Given the description of an element on the screen output the (x, y) to click on. 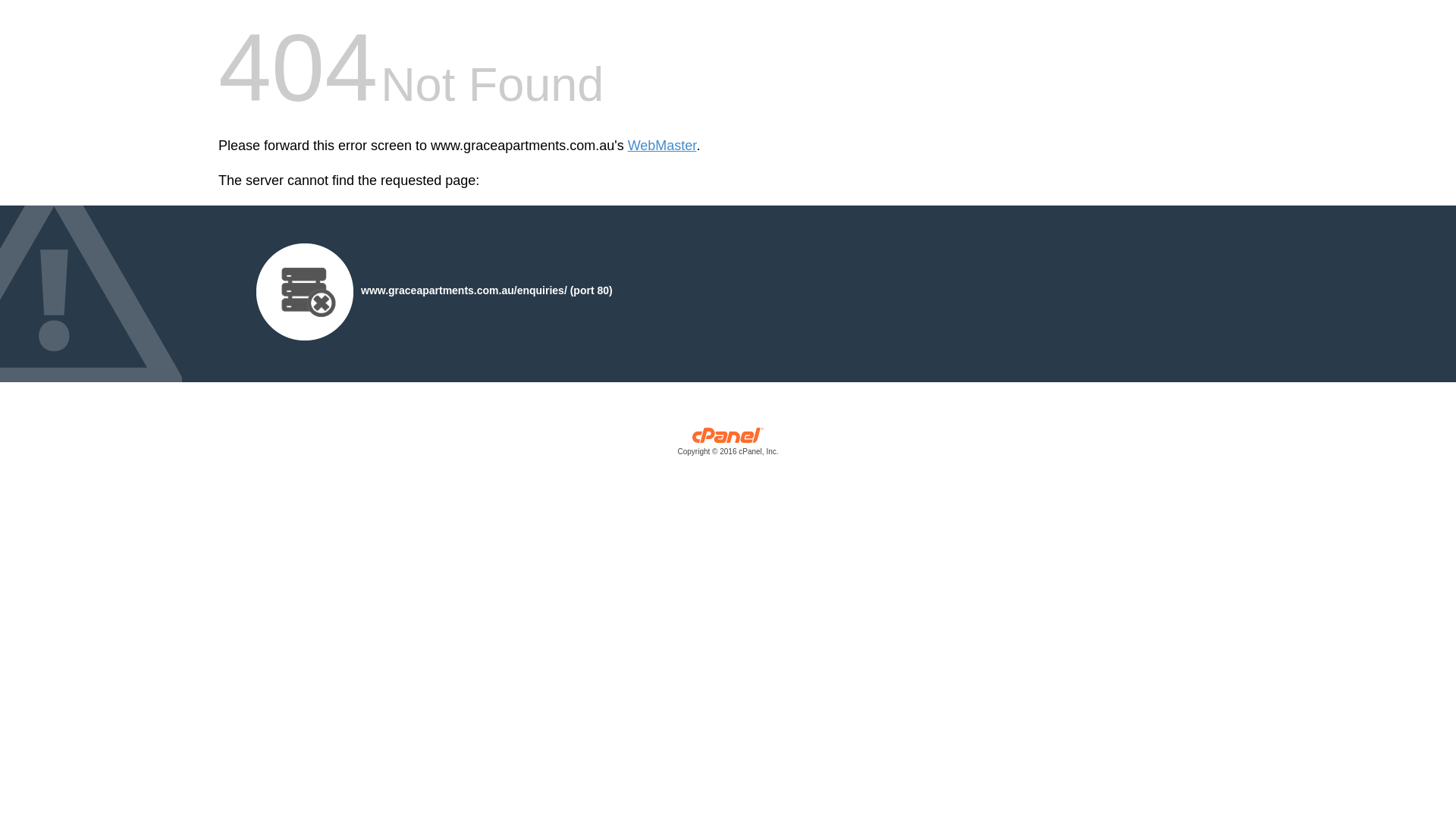
WebMaster Element type: text (661, 145)
